Given the description of an element on the screen output the (x, y) to click on. 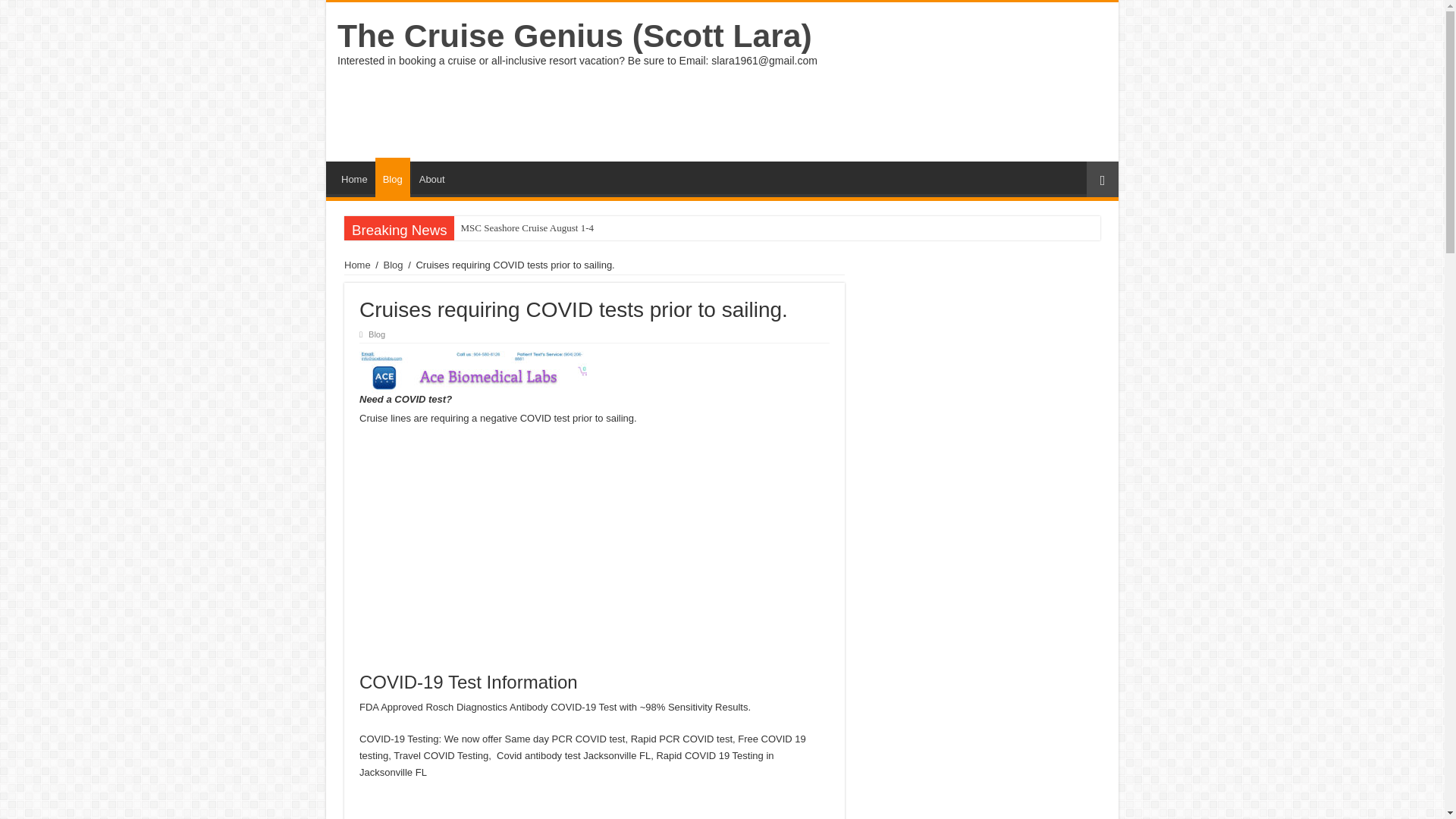
Home (357, 265)
MSC Seashore Cruise August 1-4 (526, 228)
Advertisement (594, 807)
Advertisement (594, 548)
Blog (376, 334)
Advertisement (830, 111)
About (431, 177)
MSC Seashore Cruise August 1-4 (526, 228)
Blog (393, 265)
Home (354, 177)
